Given the description of an element on the screen output the (x, y) to click on. 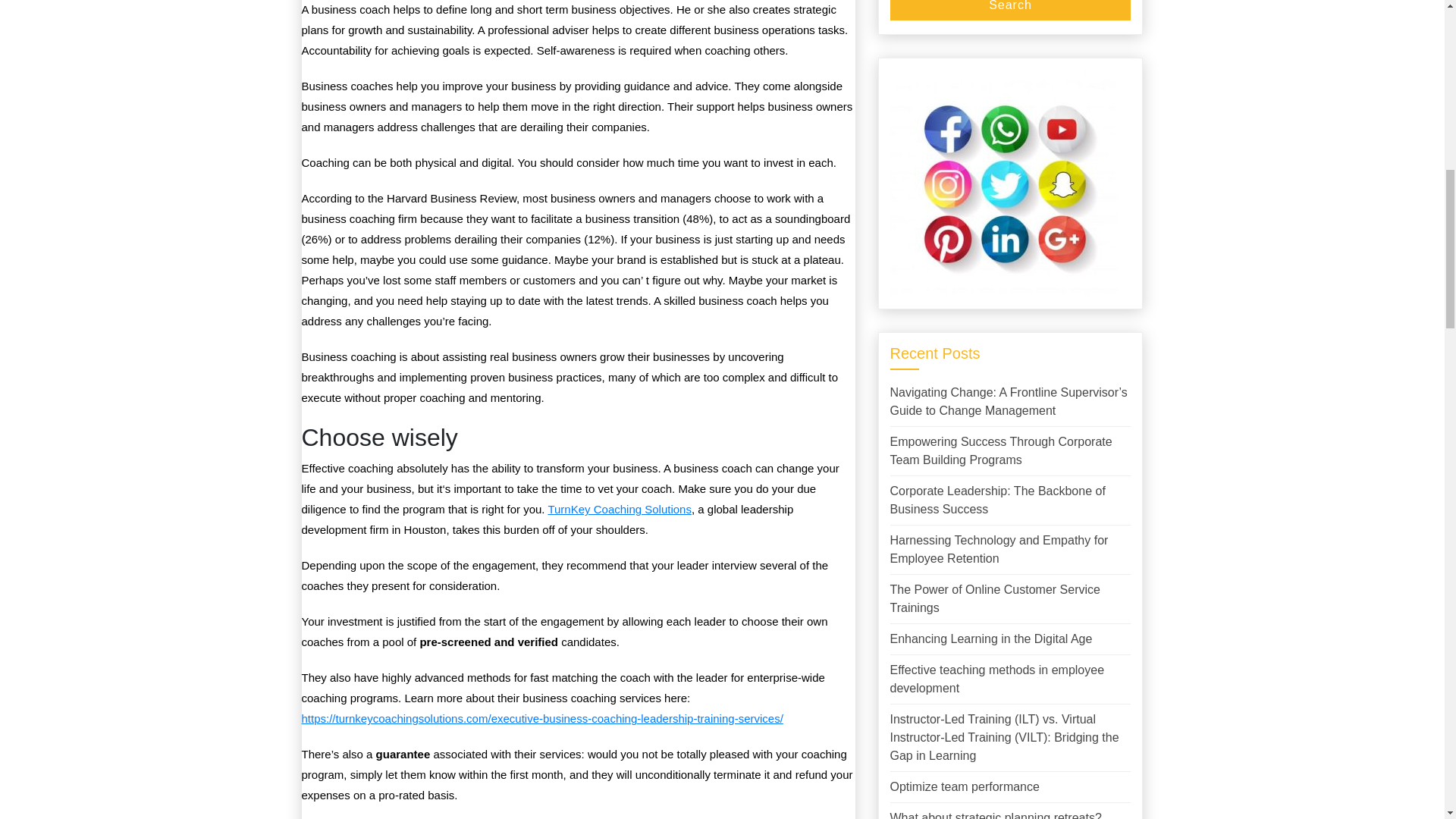
What about strategic planning retreats? (995, 815)
Harnessing Technology and Empathy for Employee Retention (998, 549)
Effective teaching methods in employee development (997, 677)
Empowering Success Through Corporate Team Building Programs (1000, 450)
Corporate Leadership: The Backbone of Business Success (997, 499)
Optimize team performance (964, 785)
The Power of Online Customer Service Trainings (994, 597)
Enhancing Learning in the Digital Age (991, 638)
Search (1010, 9)
TurnKey Coaching Solutions (619, 508)
